Given the description of an element on the screen output the (x, y) to click on. 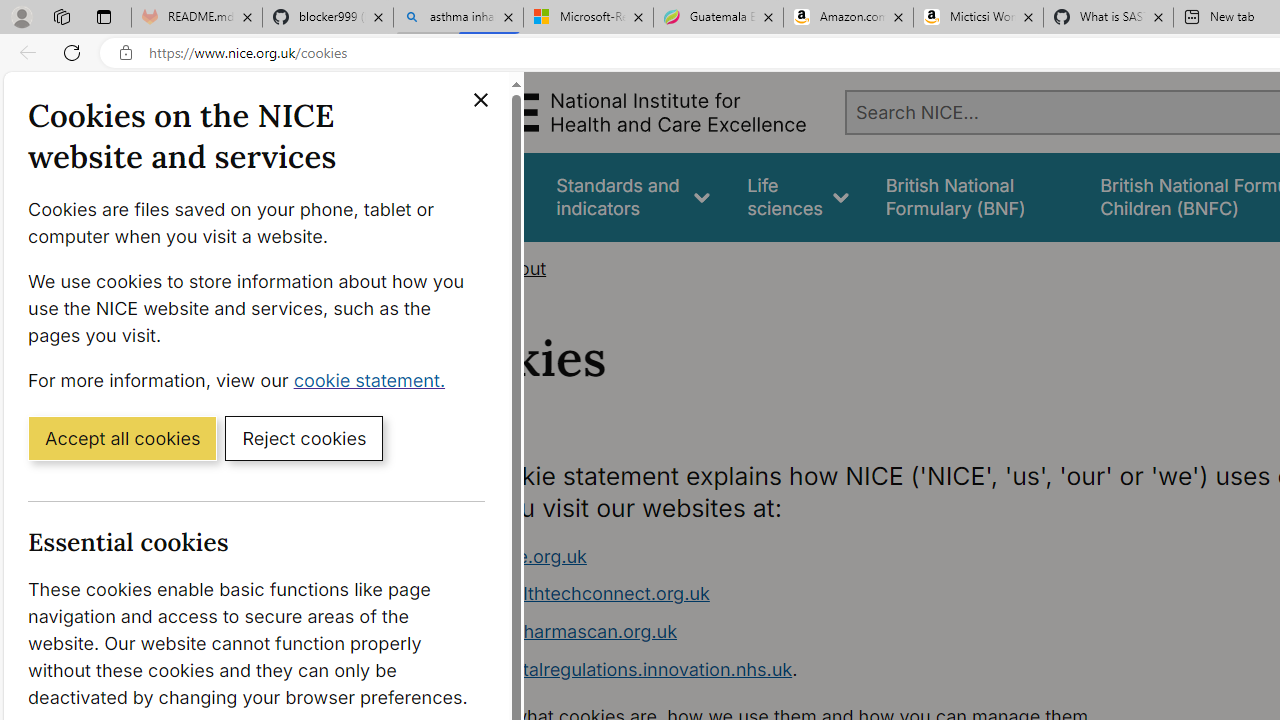
www.nice.org.uk (818, 556)
www.healthtechconnect.org.uk (818, 594)
About (520, 268)
www.healthtechconnect.org.uk (576, 593)
false (974, 196)
Home> (456, 268)
